Given the description of an element on the screen output the (x, y) to click on. 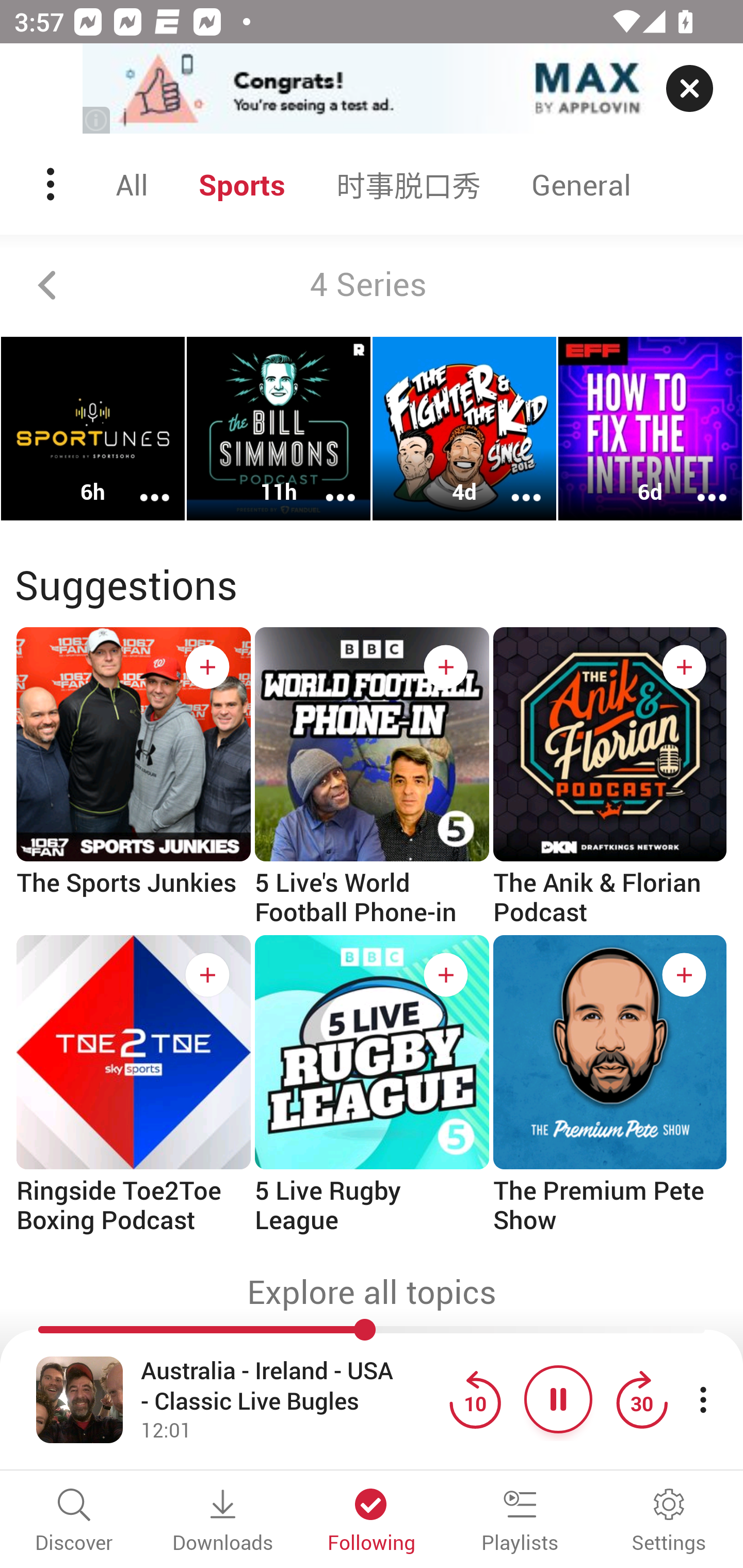
app-monetization (371, 88)
(i) (96, 119)
Menu (52, 184)
All (131, 184)
Sports (242, 184)
时事脱口秀 (408, 184)
General (580, 184)
4 Series (371, 285)
Sportunes HK 6h More options More options (92, 428)
The Fighter & The Kid 4d More options More options (464, 428)
More options (141, 484)
More options (326, 484)
More options (512, 484)
More options (698, 484)
Subscribe button (207, 666)
Subscribe button (446, 666)
Subscribe button (684, 666)
Subscribe button (207, 974)
Subscribe button (446, 974)
Subscribe button (684, 974)
Explore all topics (371, 1291)
Open fullscreen player (79, 1399)
More player controls (703, 1399)
Australia - Ireland - USA - Classic Live Bugles (290, 1385)
Pause button (558, 1398)
Jump back (475, 1399)
Jump forward (641, 1399)
Discover (74, 1521)
Downloads (222, 1521)
Following (371, 1521)
Playlists (519, 1521)
Settings (668, 1521)
